Given the description of an element on the screen output the (x, y) to click on. 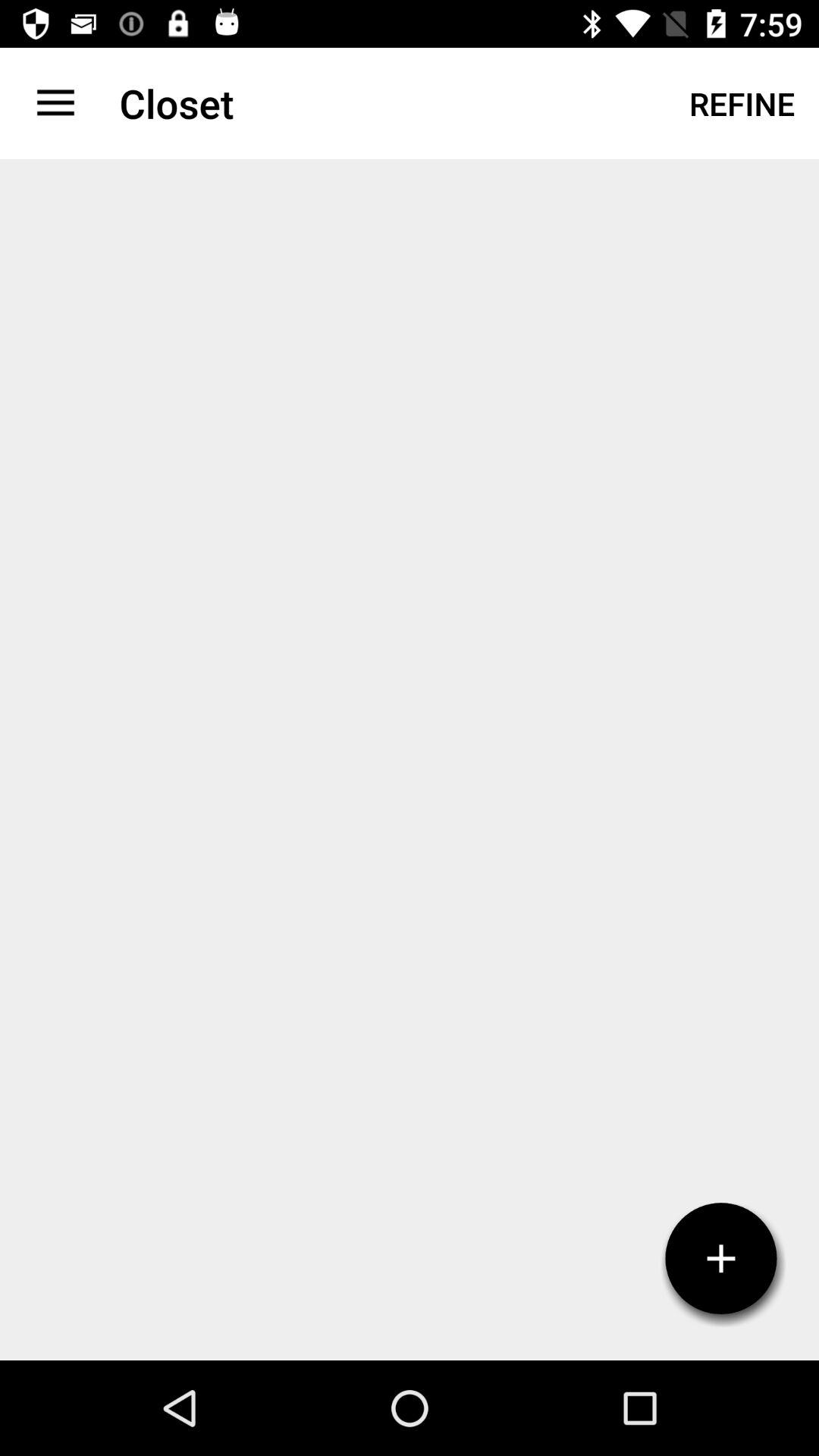
turn on refine at the top right corner (742, 103)
